Given the description of an element on the screen output the (x, y) to click on. 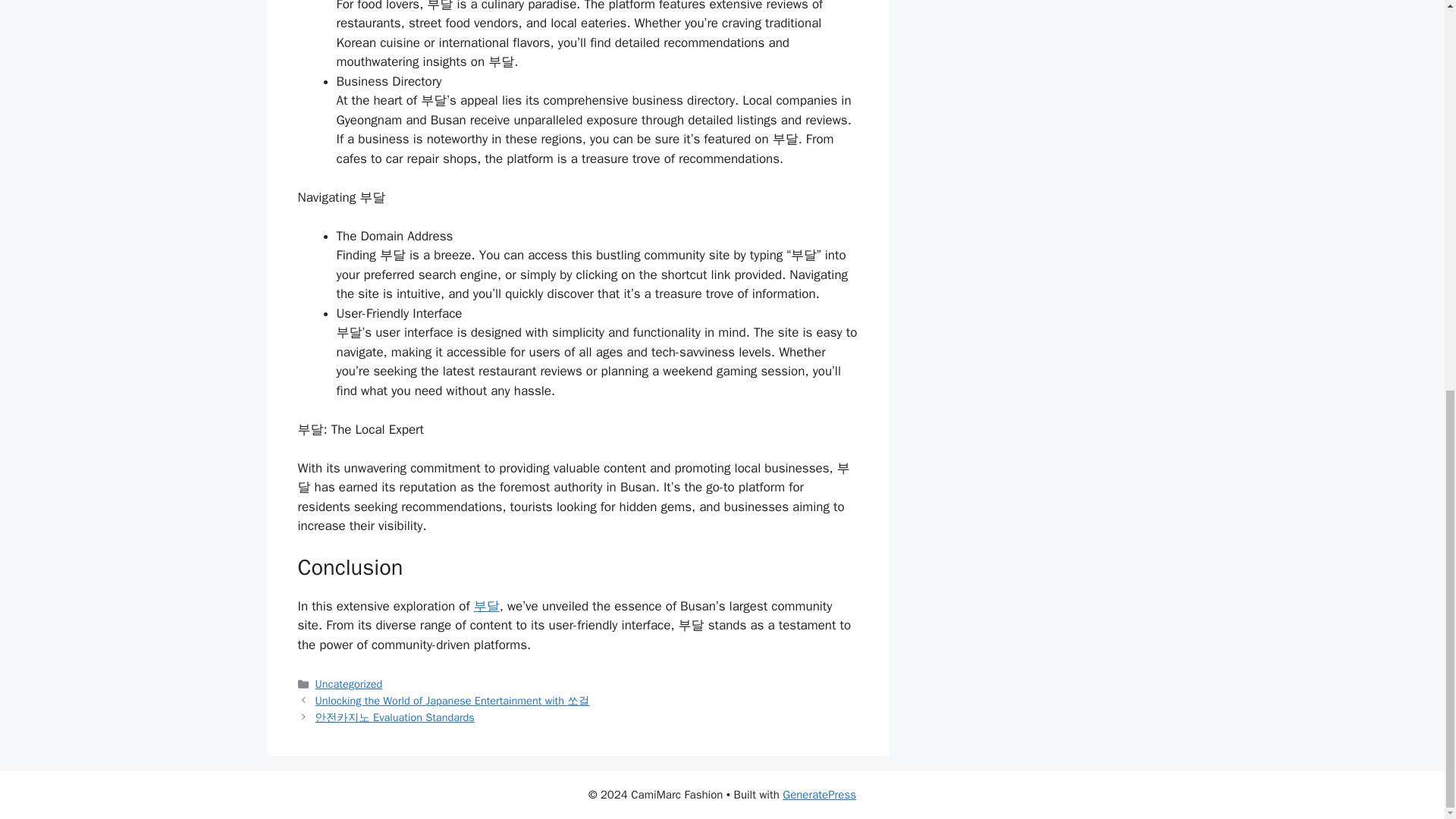
GeneratePress (819, 794)
Uncategorized (348, 684)
